Given the description of an element on the screen output the (x, y) to click on. 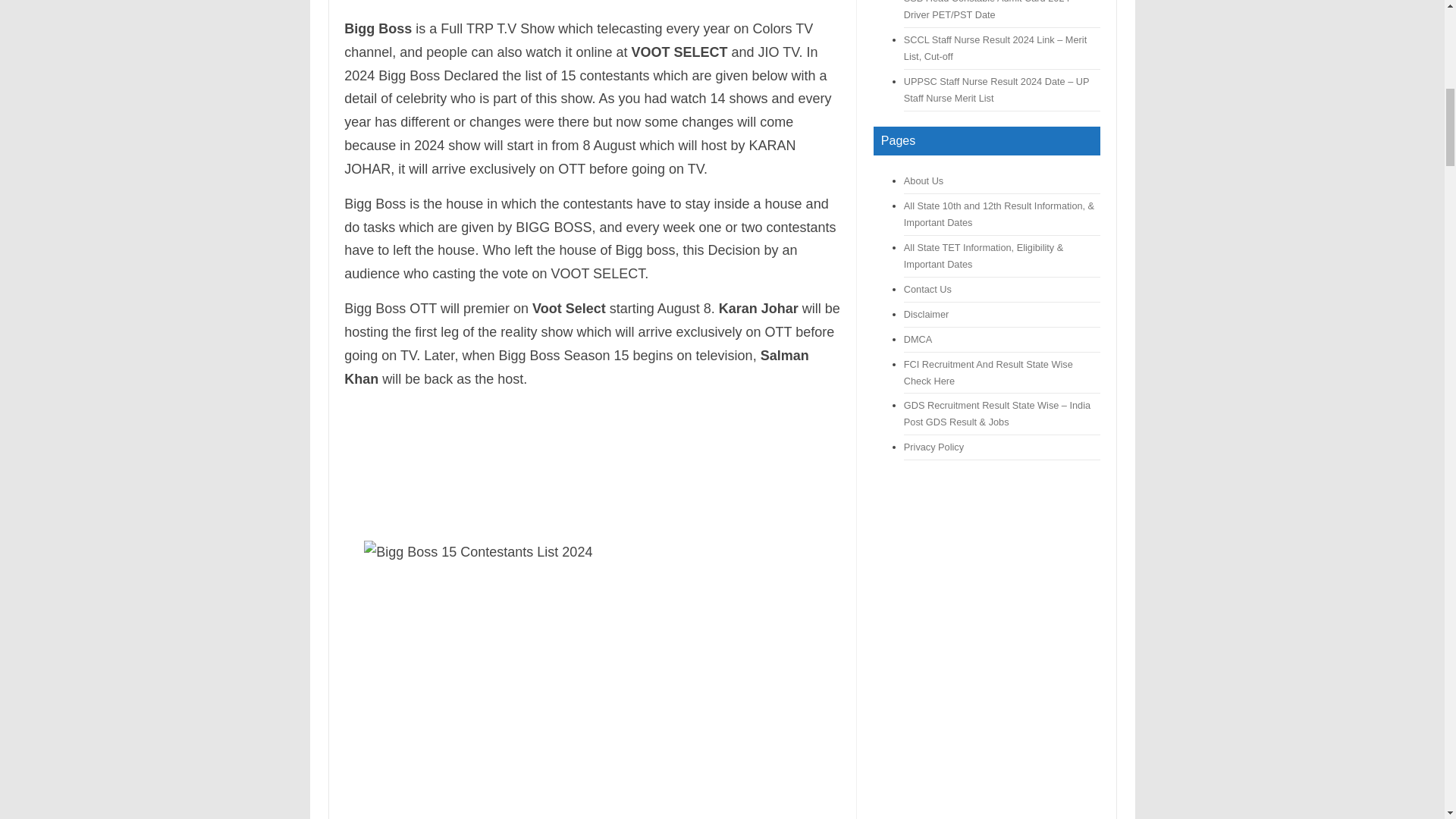
Advertisement (591, 5)
Advertisement (591, 466)
